Given the description of an element on the screen output the (x, y) to click on. 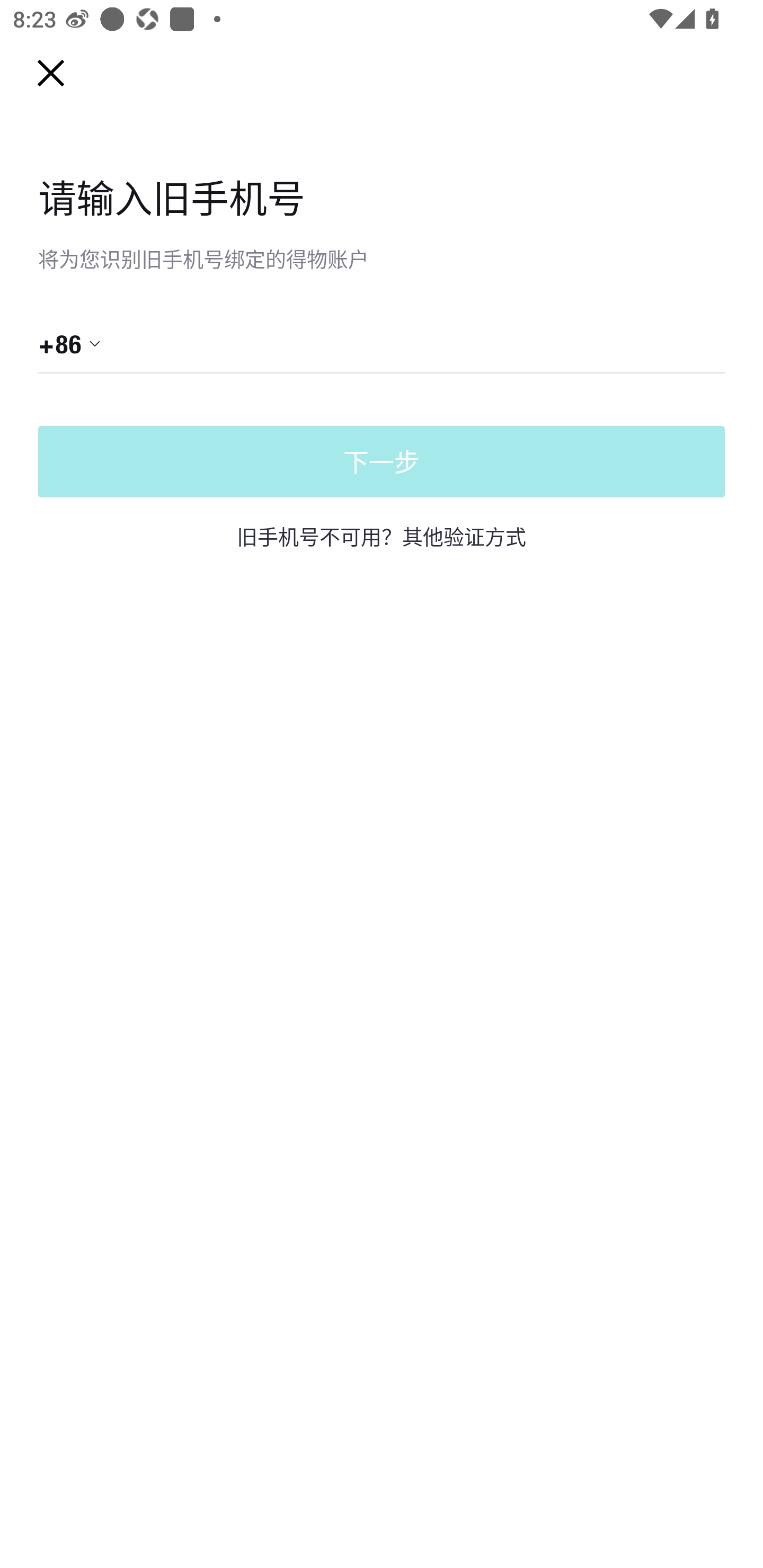
+86 (69, 343)
  (400, 343)
下一步 (381, 461)
旧手机号不可用？其他验证方式 (381, 536)
